Given the description of an element on the screen output the (x, y) to click on. 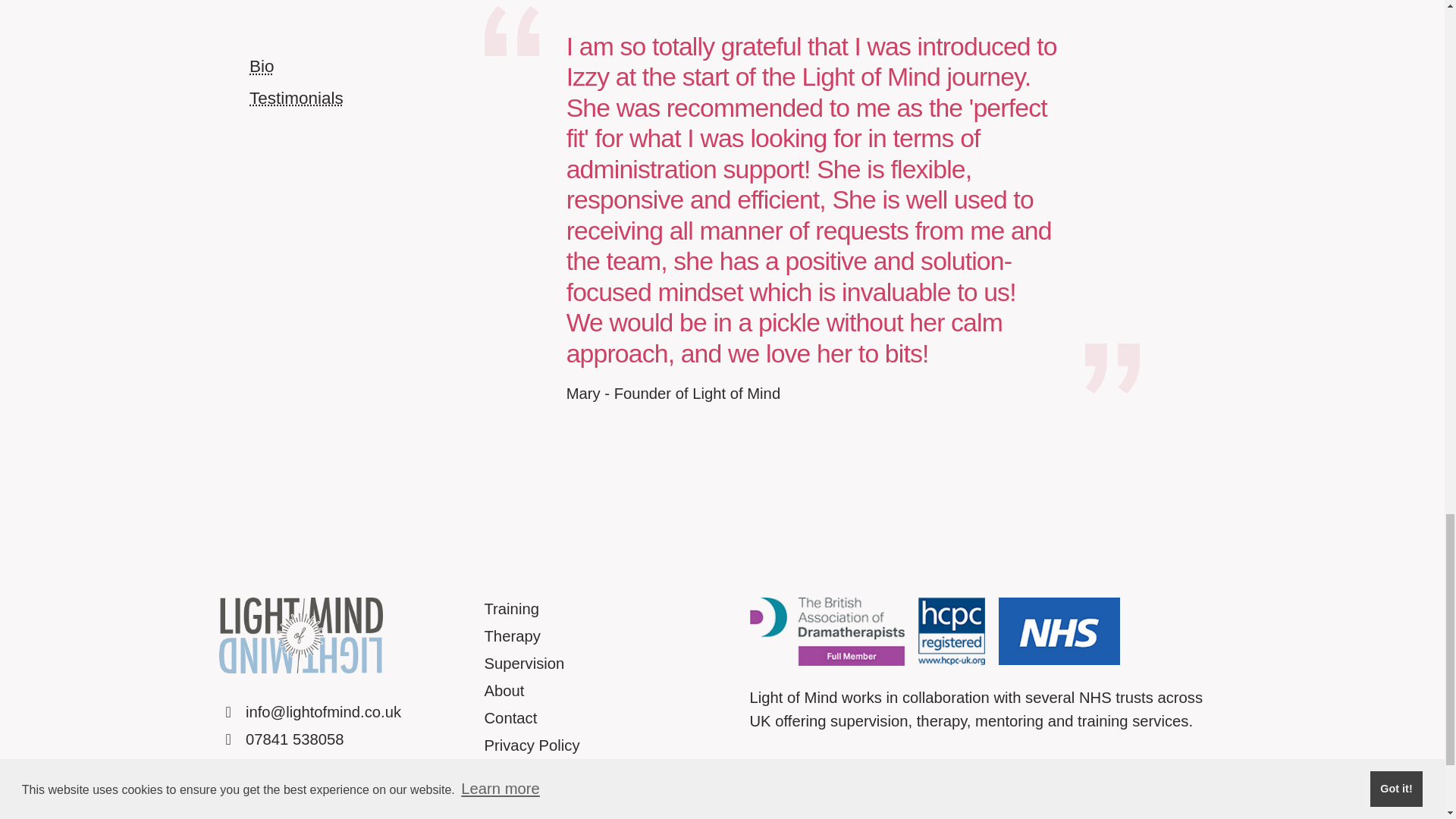
Supervision (523, 663)
WhatsApp message (300, 766)
Privacy Policy (531, 745)
About (503, 690)
Contact (510, 718)
Training (510, 608)
07841 538058 (280, 739)
Therapy (511, 636)
